Given the description of an element on the screen output the (x, y) to click on. 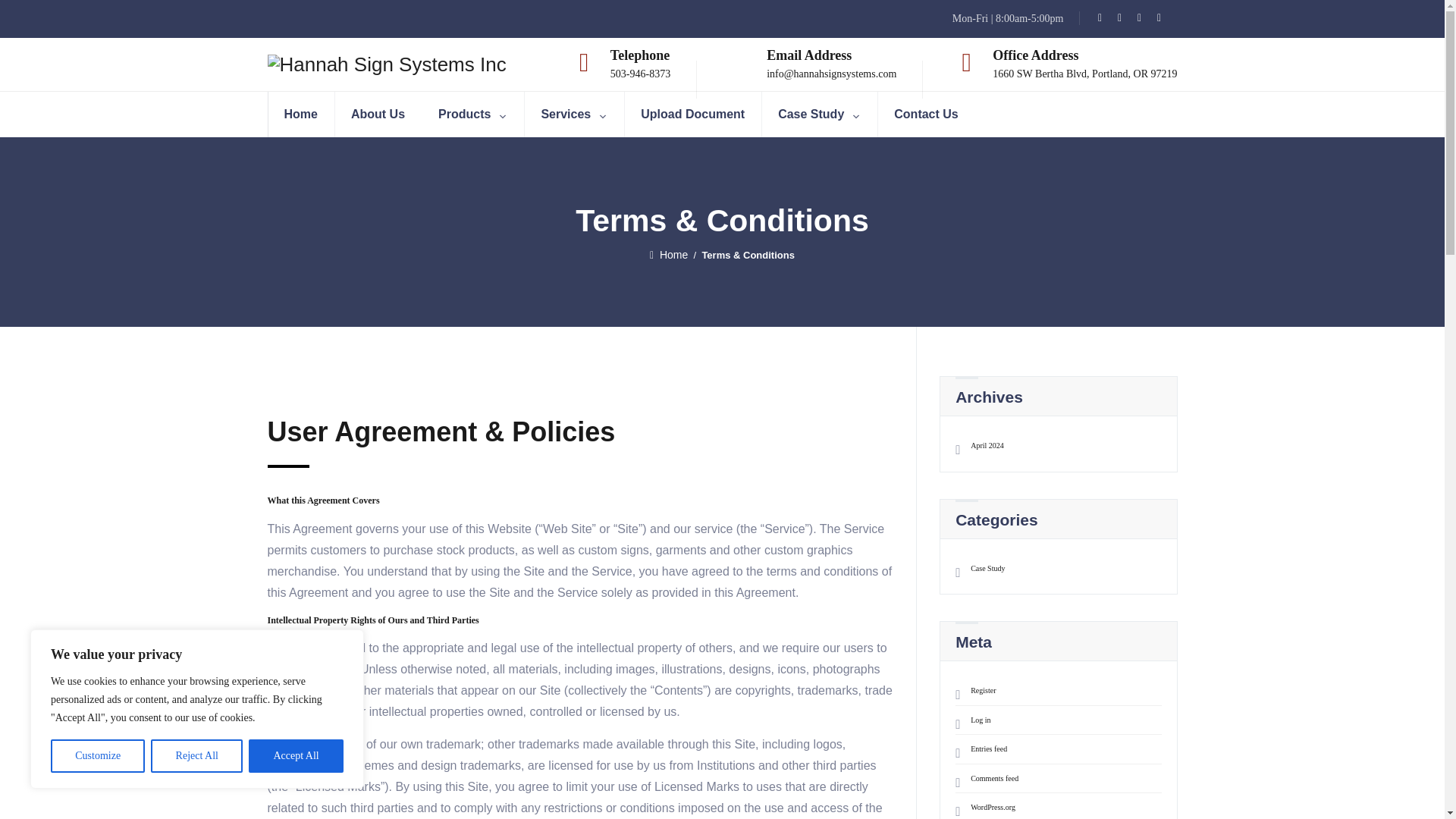
Accept All (295, 756)
Reject All (197, 756)
503-946-8373 (639, 72)
Go to Hannah Sign Systems Inc. (668, 254)
About Us (377, 114)
Products (472, 114)
Services (573, 114)
Customize (97, 756)
Hannah Sign Systems Inc (385, 63)
1660 SW Bertha Blvd, Portland, OR 97219 (1084, 72)
